Given the description of an element on the screen output the (x, y) to click on. 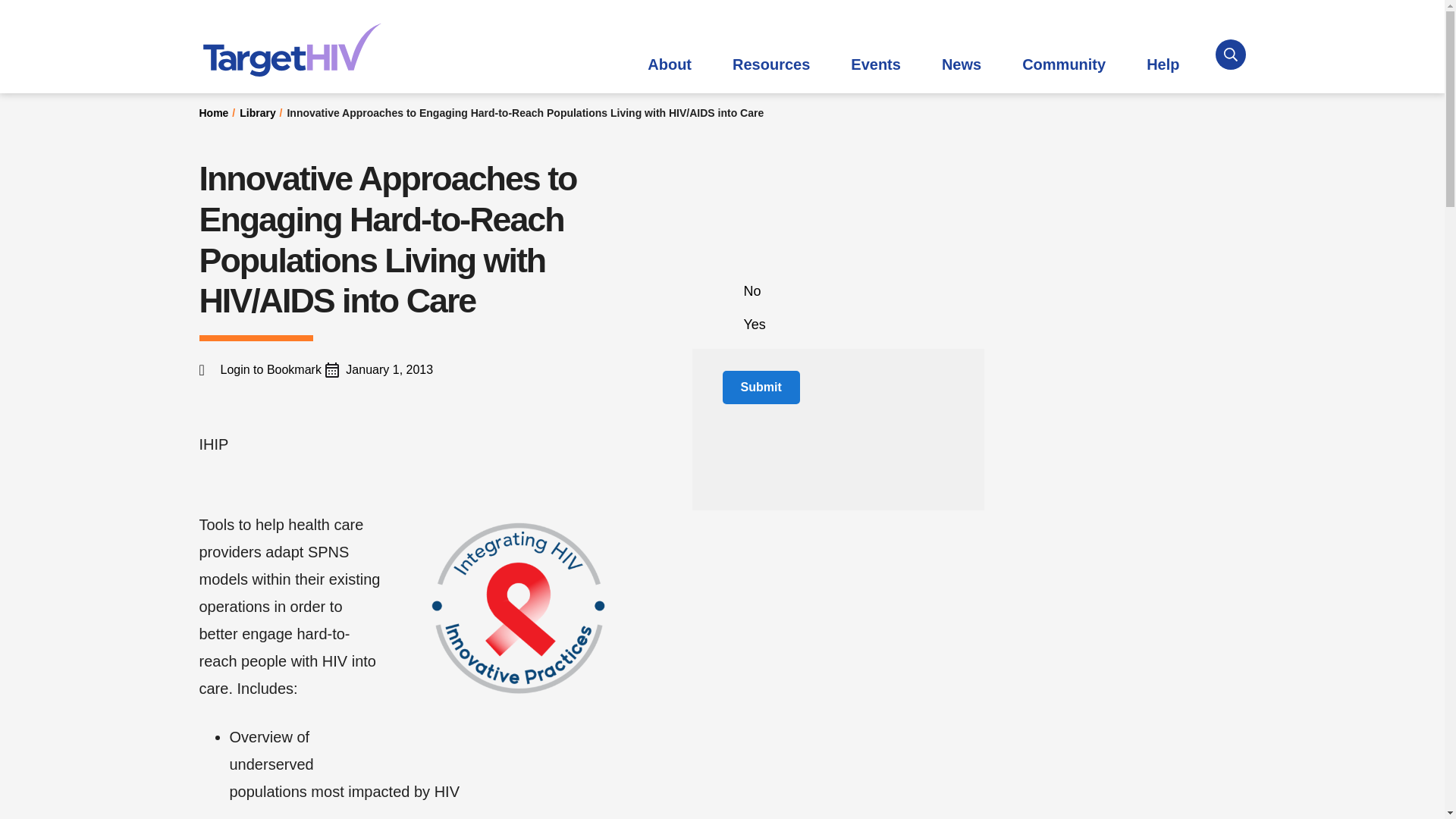
no (727, 290)
Resources (770, 64)
Events (875, 64)
TargetHIV (291, 49)
Home (291, 49)
Enter the terms you wish to search for. (722, 36)
Search (910, 36)
Submit (760, 387)
About (669, 64)
